Given the description of an element on the screen output the (x, y) to click on. 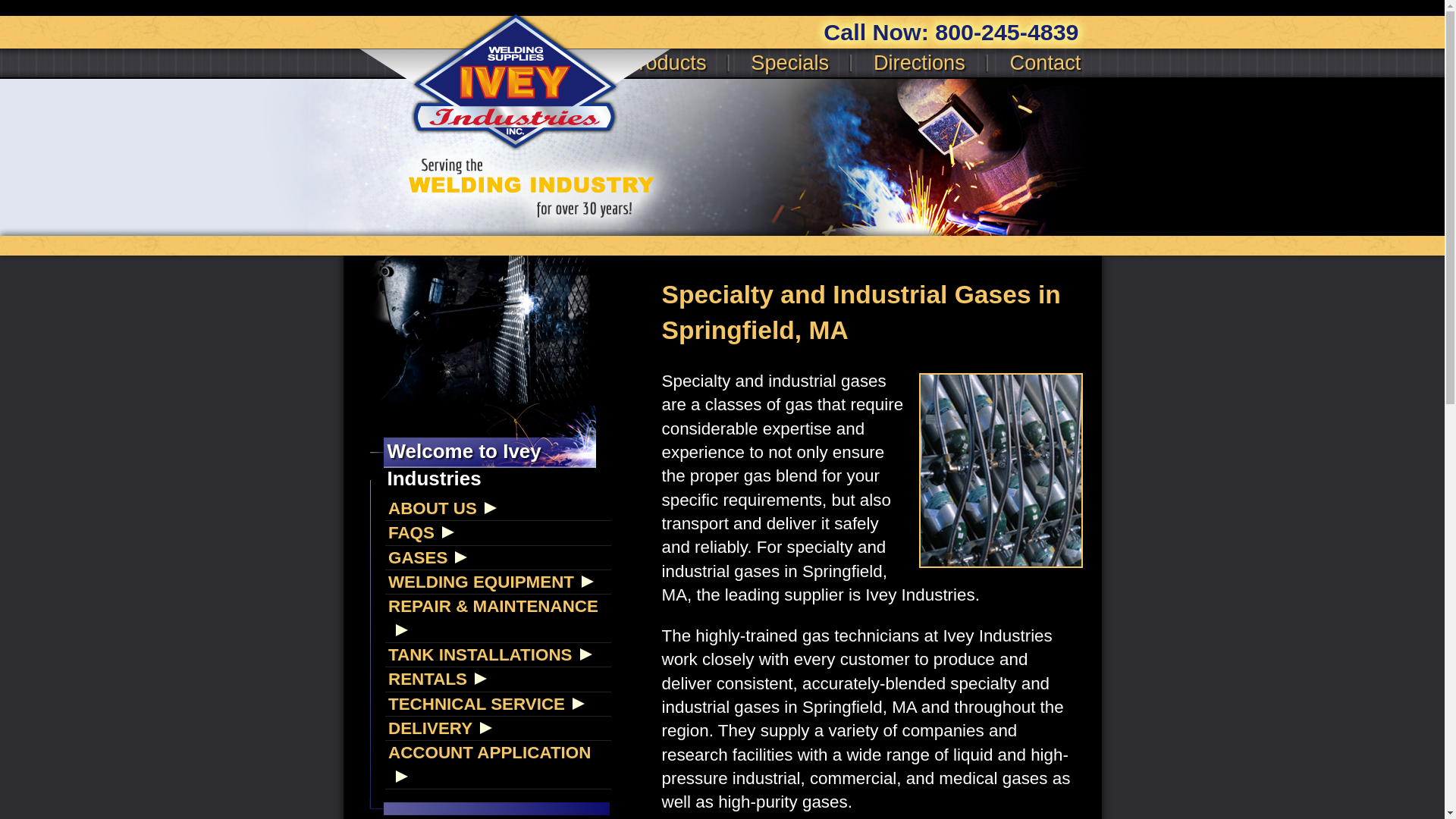
Products (665, 62)
Directions (919, 62)
FAQS (498, 532)
WELDING EQUIPMENT (498, 581)
Contact (1044, 62)
ACCOUNT APPLICATION (498, 764)
Welcome to Ivey Industries (475, 329)
Specials (789, 62)
DELIVERY (498, 728)
